Given the description of an element on the screen output the (x, y) to click on. 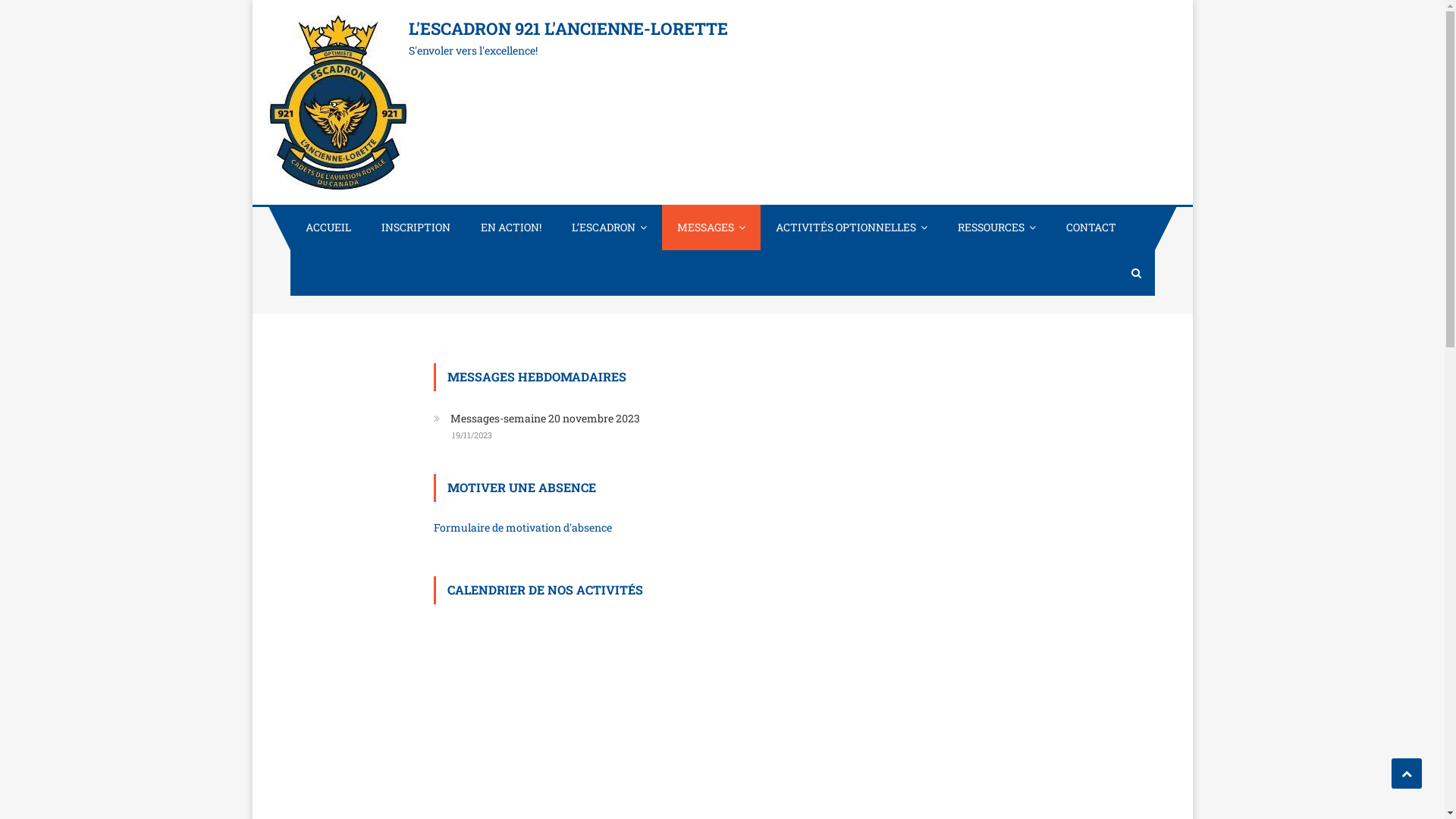
EN ACTION! Element type: text (510, 227)
INSCRIPTION Element type: text (414, 227)
RESSOURCES Element type: text (995, 227)
Messages-semaine 20 novembre 2023 Element type: text (536, 418)
Formulaire de motivation d'absence Element type: text (522, 527)
ACCUEIL Element type: text (327, 227)
CONTACT Element type: text (1091, 227)
MESSAGES Element type: text (710, 227)
L'ESCADRON 921 L'ANCIENNE-LORETTE Element type: text (567, 28)
